Given the description of an element on the screen output the (x, y) to click on. 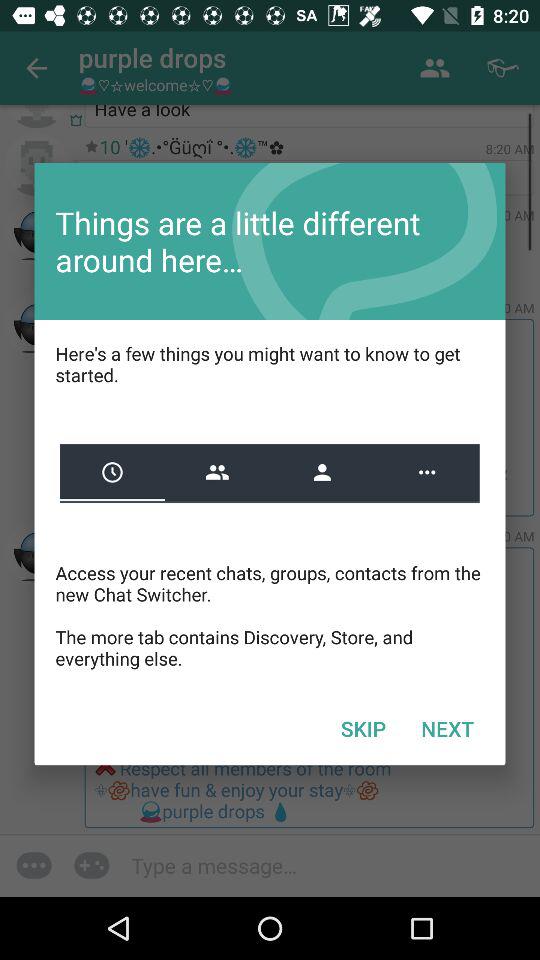
turn on the icon next to skip icon (447, 728)
